Given the description of an element on the screen output the (x, y) to click on. 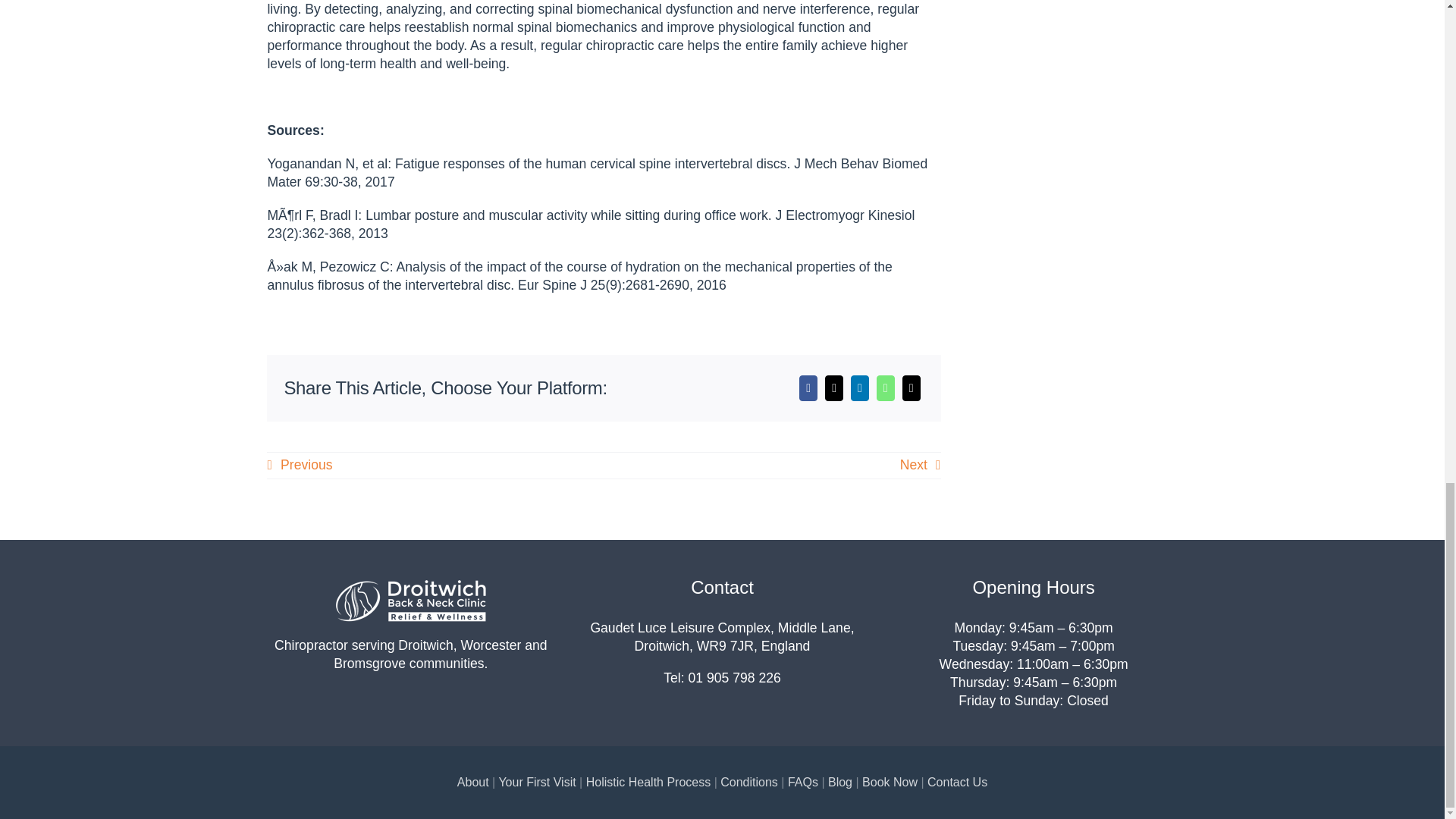
Next (919, 465)
Previous (298, 465)
